Given the description of an element on the screen output the (x, y) to click on. 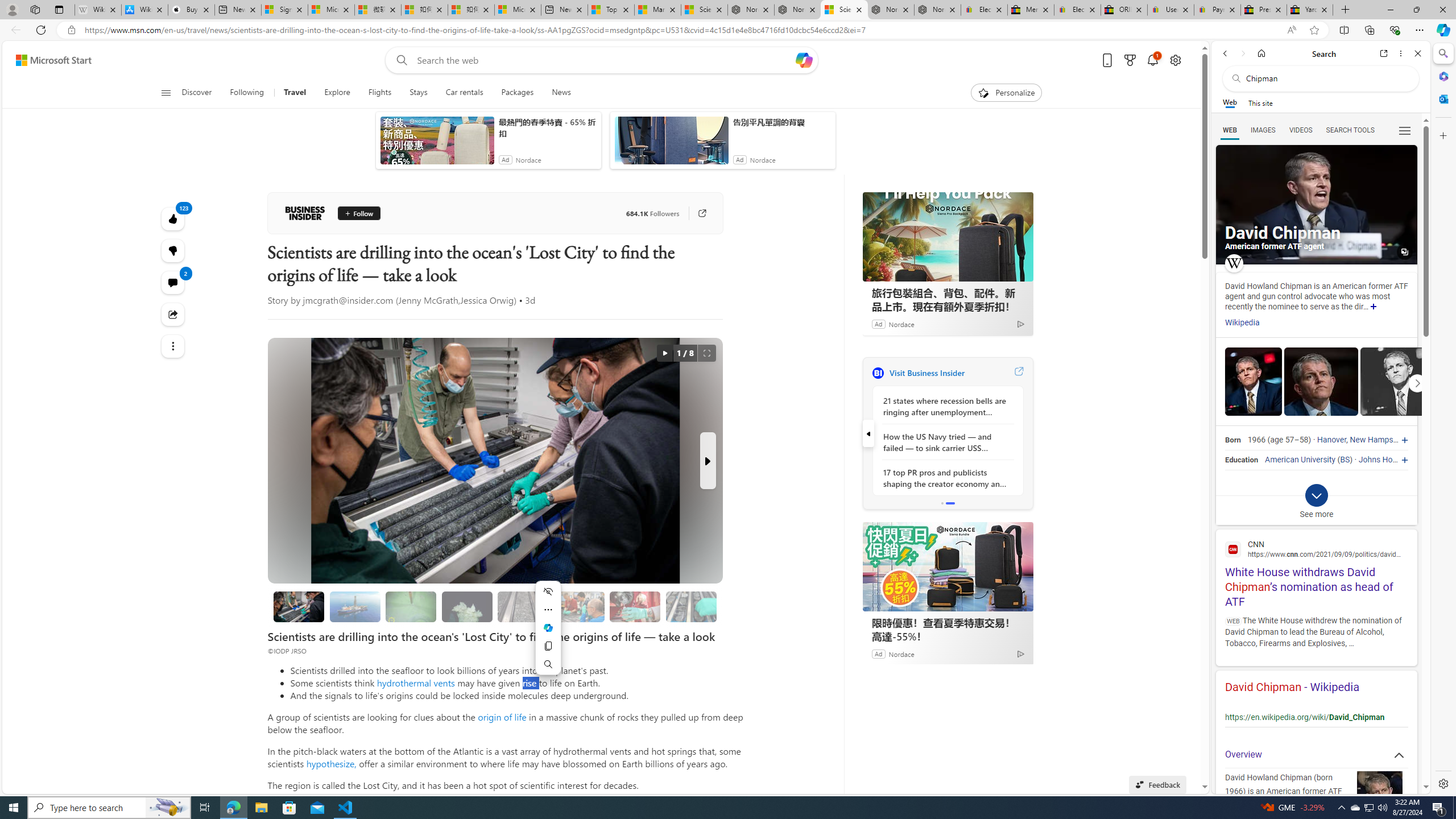
123 (172, 250)
Personalize (1006, 92)
Enter your search term (603, 59)
Ad Choice (1020, 653)
Explore (336, 92)
This site scope (1259, 102)
View details (1396, 381)
Visit Business Insider website (1018, 372)
